Given the description of an element on the screen output the (x, y) to click on. 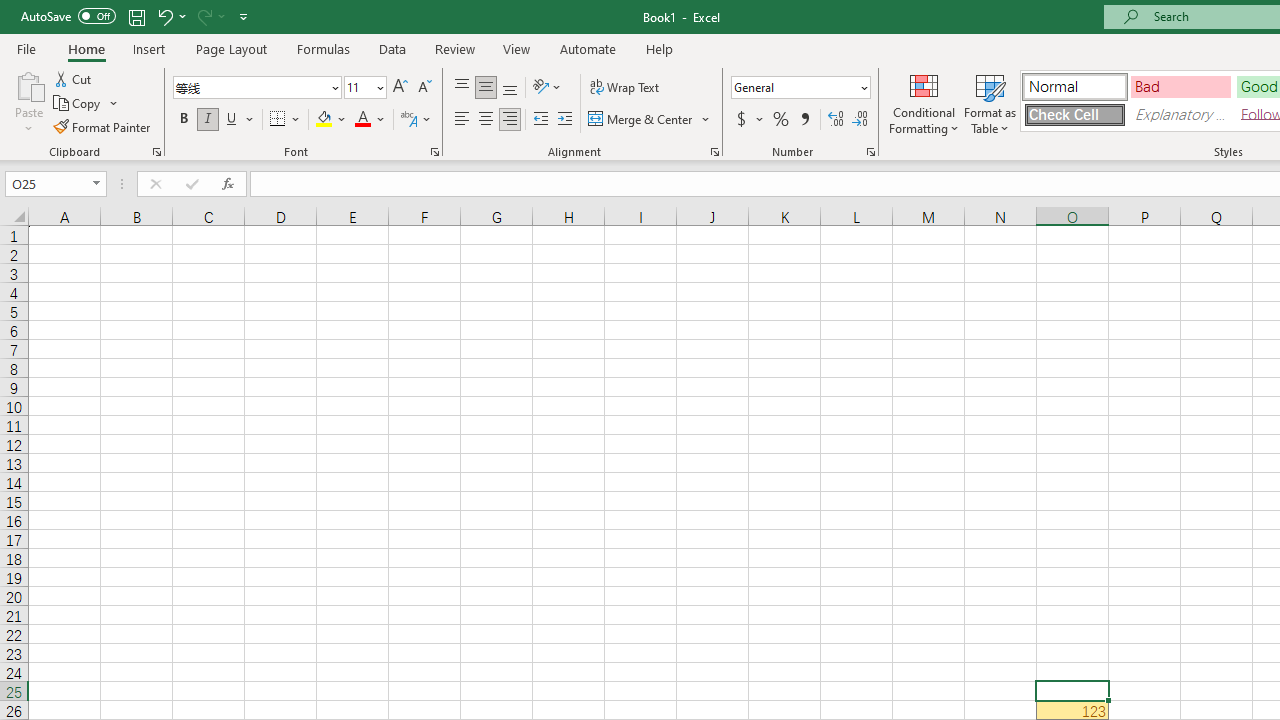
Font (250, 87)
Increase Decimal (836, 119)
Underline (239, 119)
Paste (28, 84)
Copy (85, 103)
Copy (78, 103)
Increase Font Size (399, 87)
Percent Style (781, 119)
Paste (28, 102)
Decrease Font Size (424, 87)
Center (485, 119)
